Given the description of an element on the screen output the (x, y) to click on. 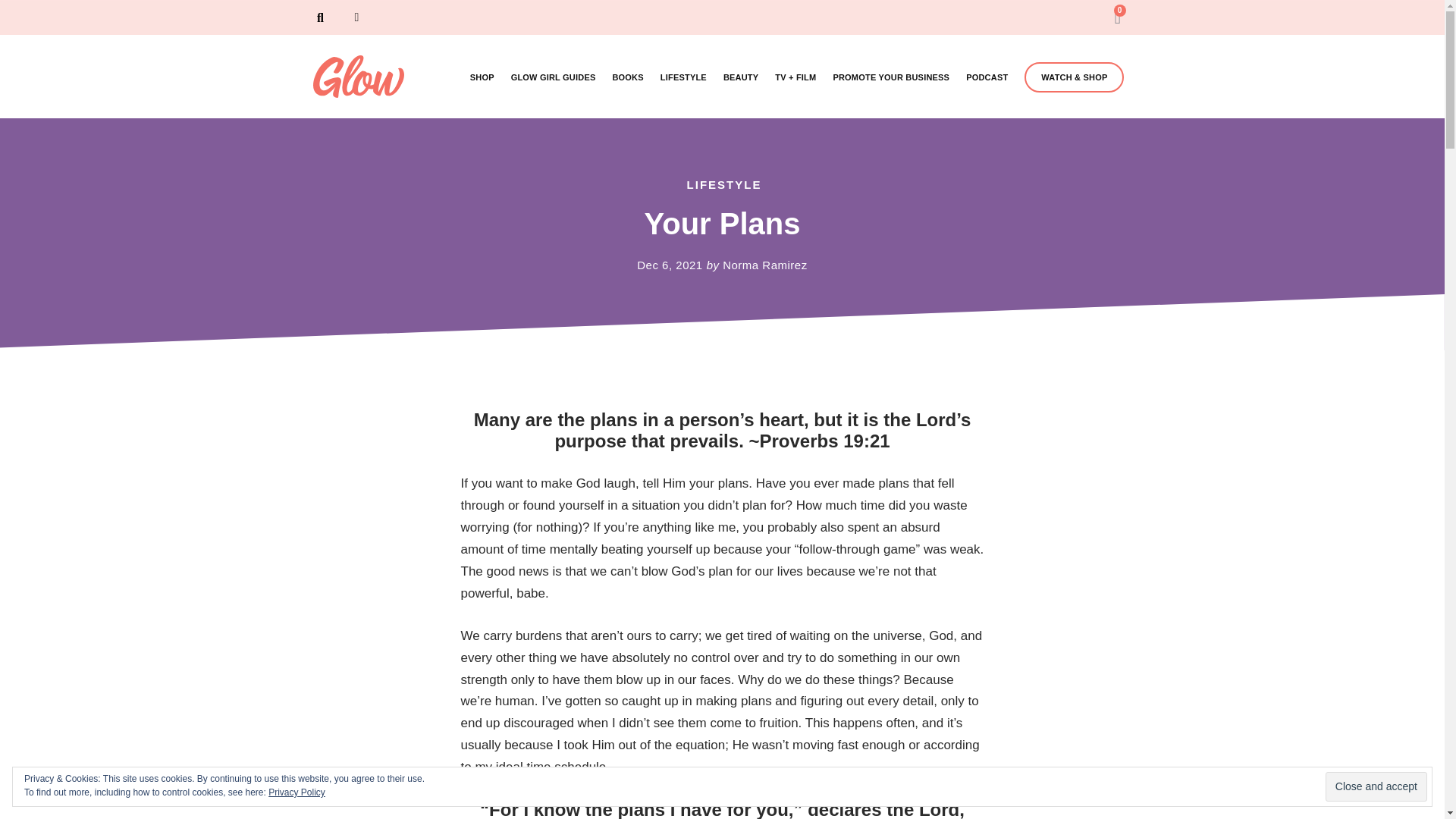
Close and accept (1375, 786)
BEAUTY (740, 77)
BOOKS (627, 77)
LIFESTYLE (683, 77)
PROMOTE YOUR BUSINESS (890, 77)
GLOW GIRL GUIDES (553, 77)
PODCAST (986, 77)
